Given the description of an element on the screen output the (x, y) to click on. 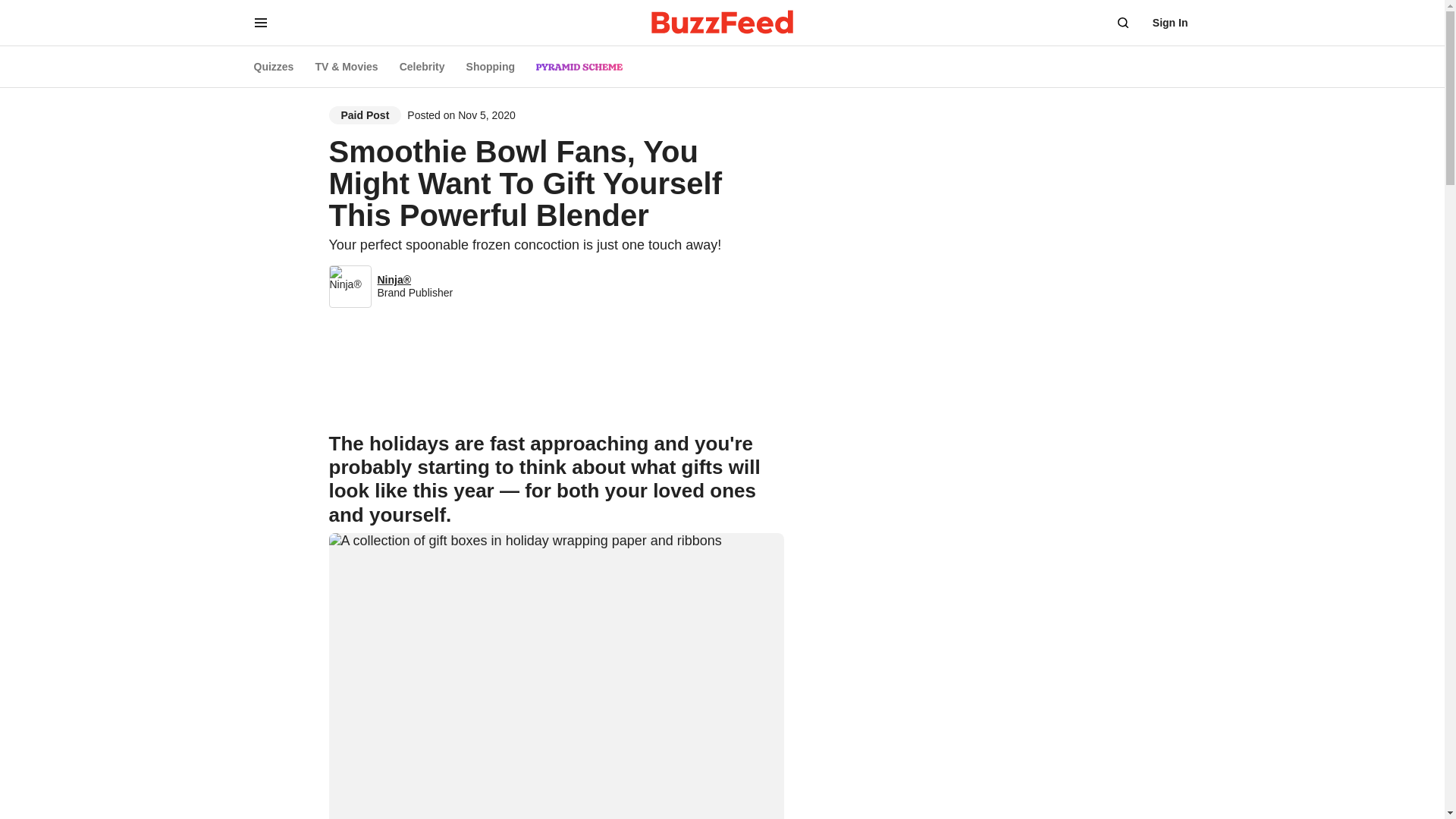
Sign In (1170, 22)
